Given the description of an element on the screen output the (x, y) to click on. 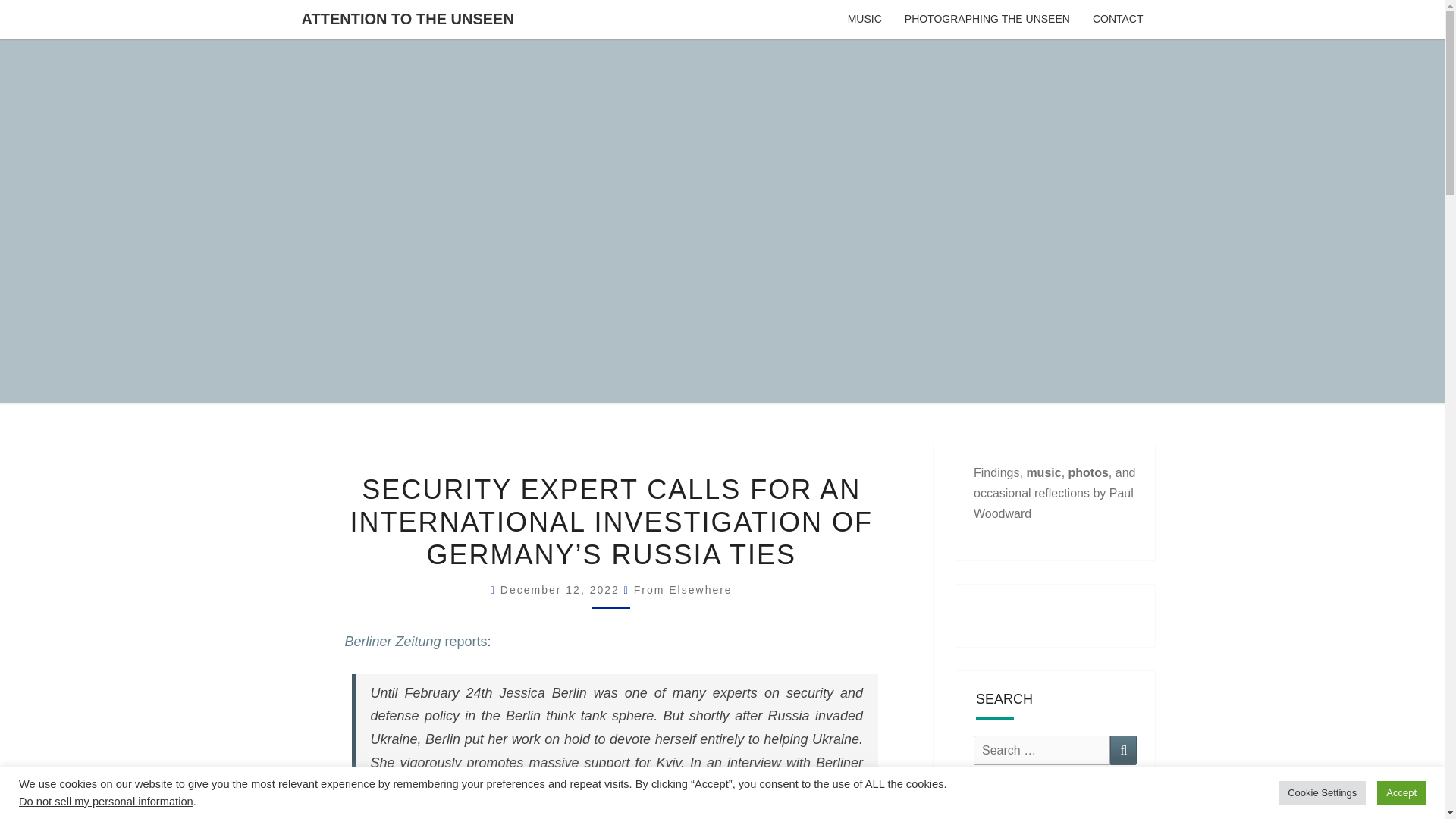
PHOTOGRAPHING THE UNSEEN (987, 19)
Berliner Zeitung reports (414, 641)
8:53 pm (562, 589)
Search (1123, 749)
photos (1088, 472)
music (1043, 472)
From Elsewhere (682, 589)
CONTACT (1117, 19)
December 12, 2022 (562, 589)
MUSIC (864, 19)
ATTENTION TO THE UNSEEN (406, 18)
Search for: (1041, 749)
View all posts by From elsewhere (682, 589)
